Given the description of an element on the screen output the (x, y) to click on. 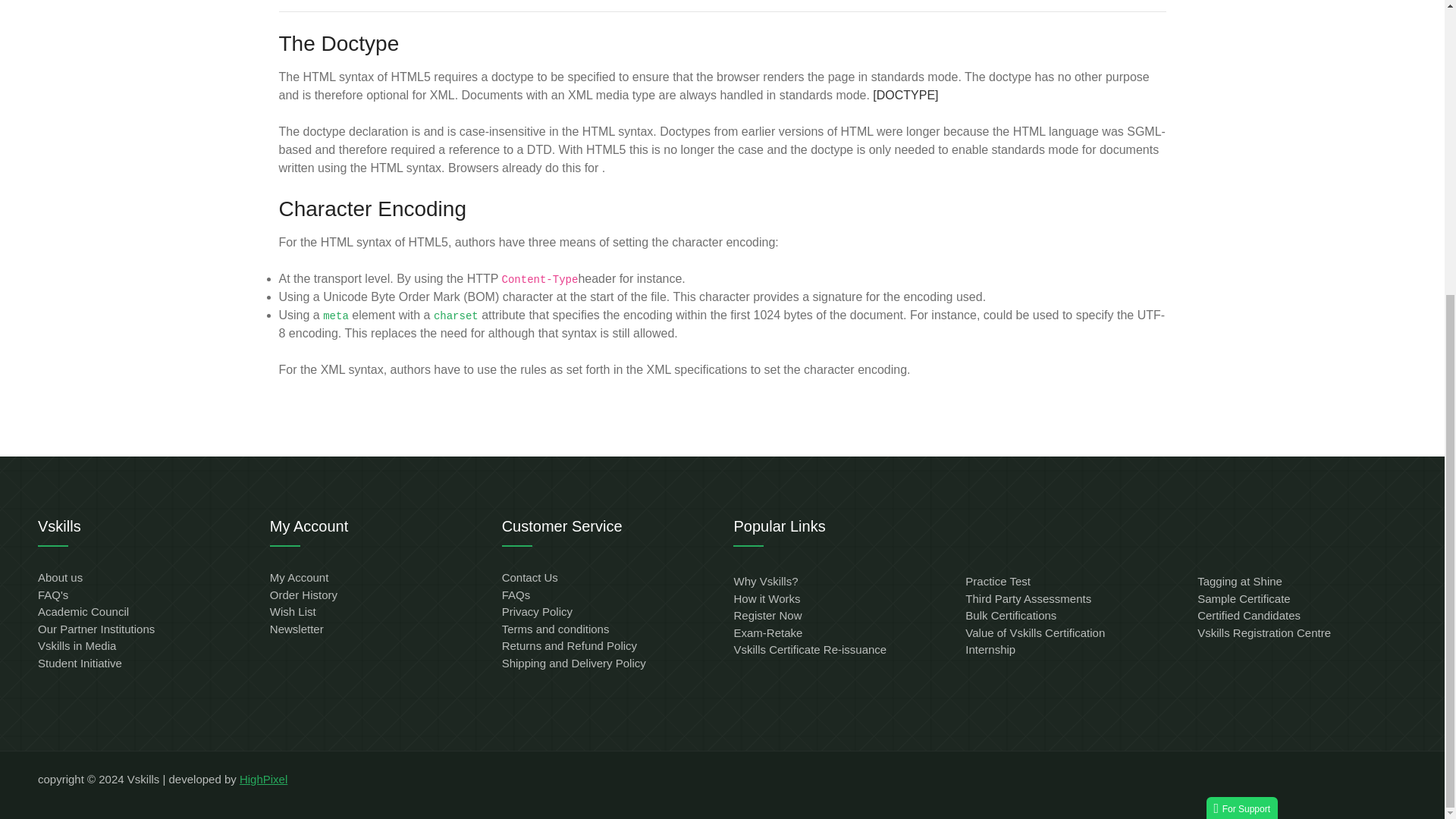
attr-meta-charset (456, 316)
Bulk Certifications for institutes and companies (1011, 615)
